Given the description of an element on the screen output the (x, y) to click on. 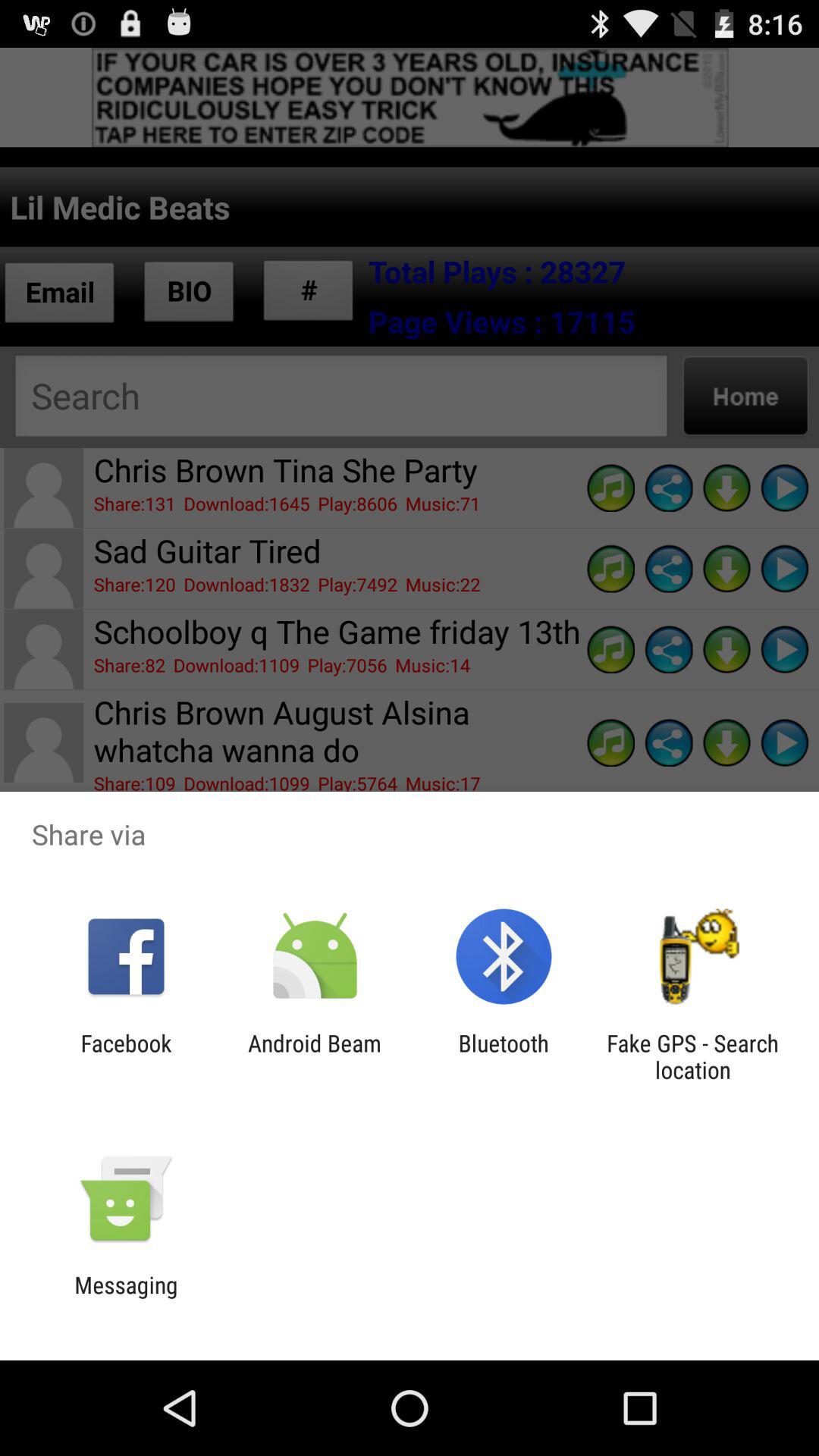
turn on the app next to bluetooth item (314, 1056)
